Given the description of an element on the screen output the (x, y) to click on. 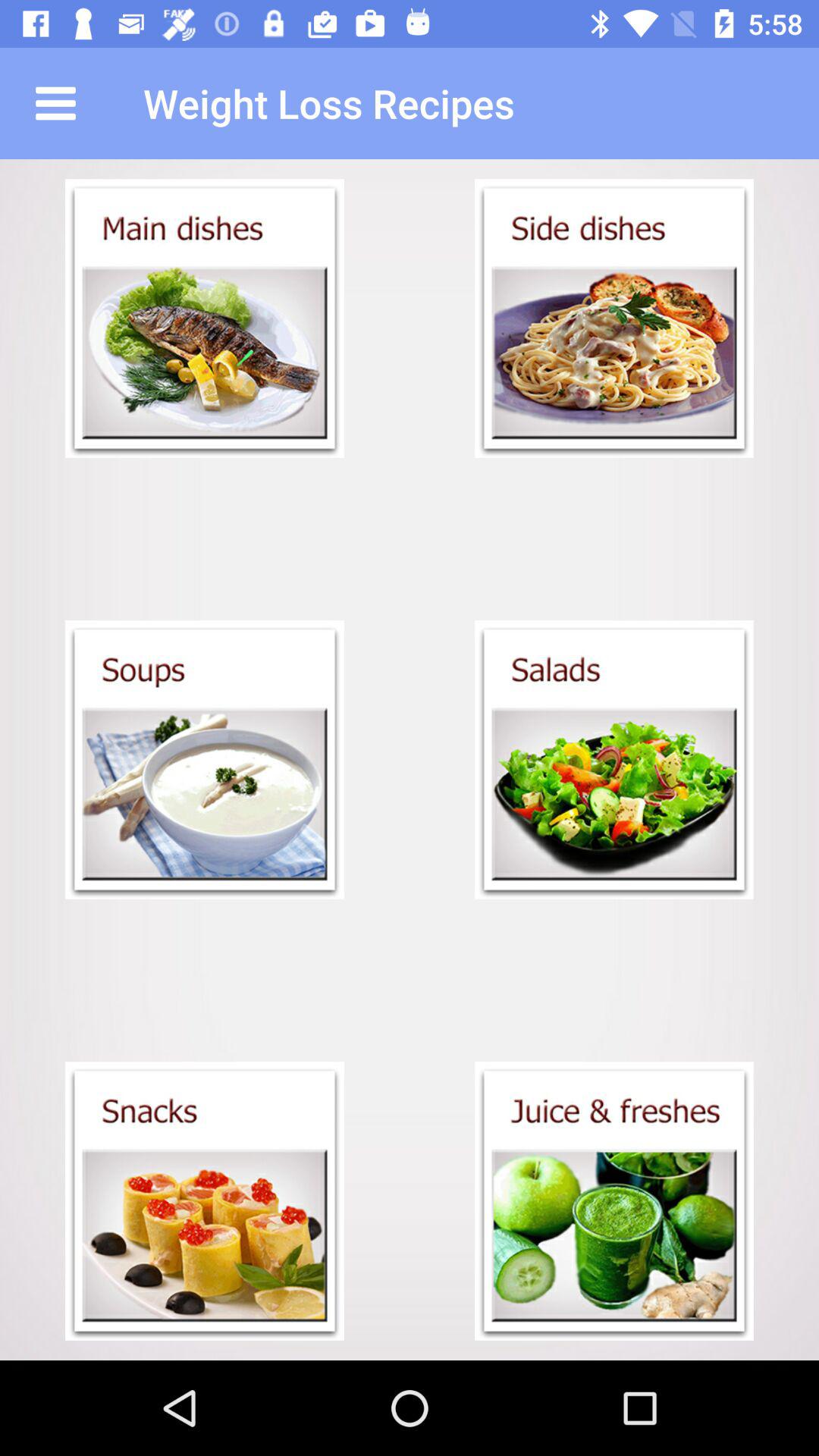
select icon at the top right corner (614, 318)
